Given the description of an element on the screen output the (x, y) to click on. 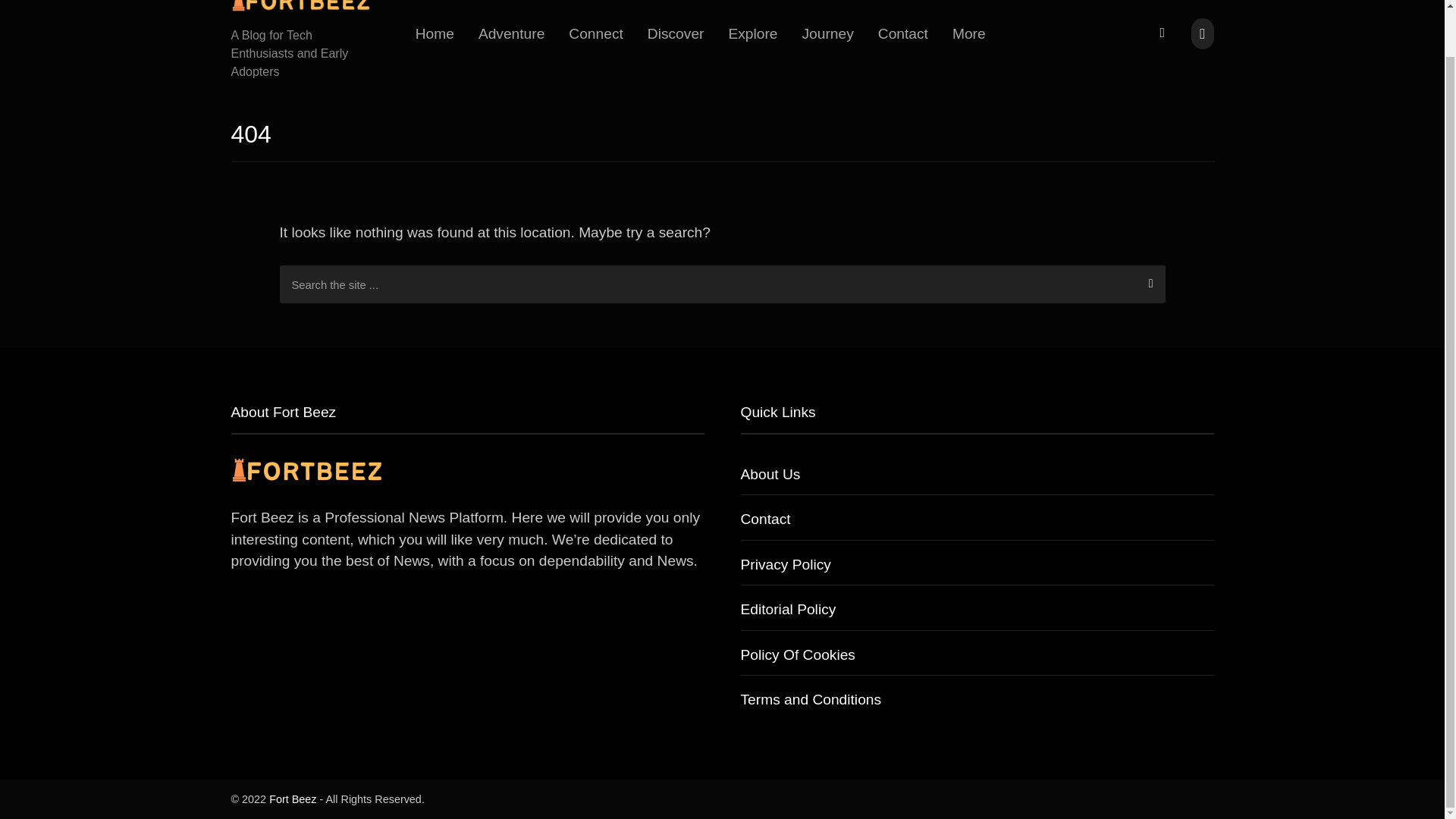
Discover (675, 33)
Home (434, 33)
Journey (828, 33)
Editorial Policy (787, 609)
Privacy Policy (784, 564)
More (968, 33)
Adventure (510, 33)
About Us (769, 474)
Explore (752, 33)
Contact (903, 33)
Contact (764, 519)
Connect (595, 33)
